Given the description of an element on the screen output the (x, y) to click on. 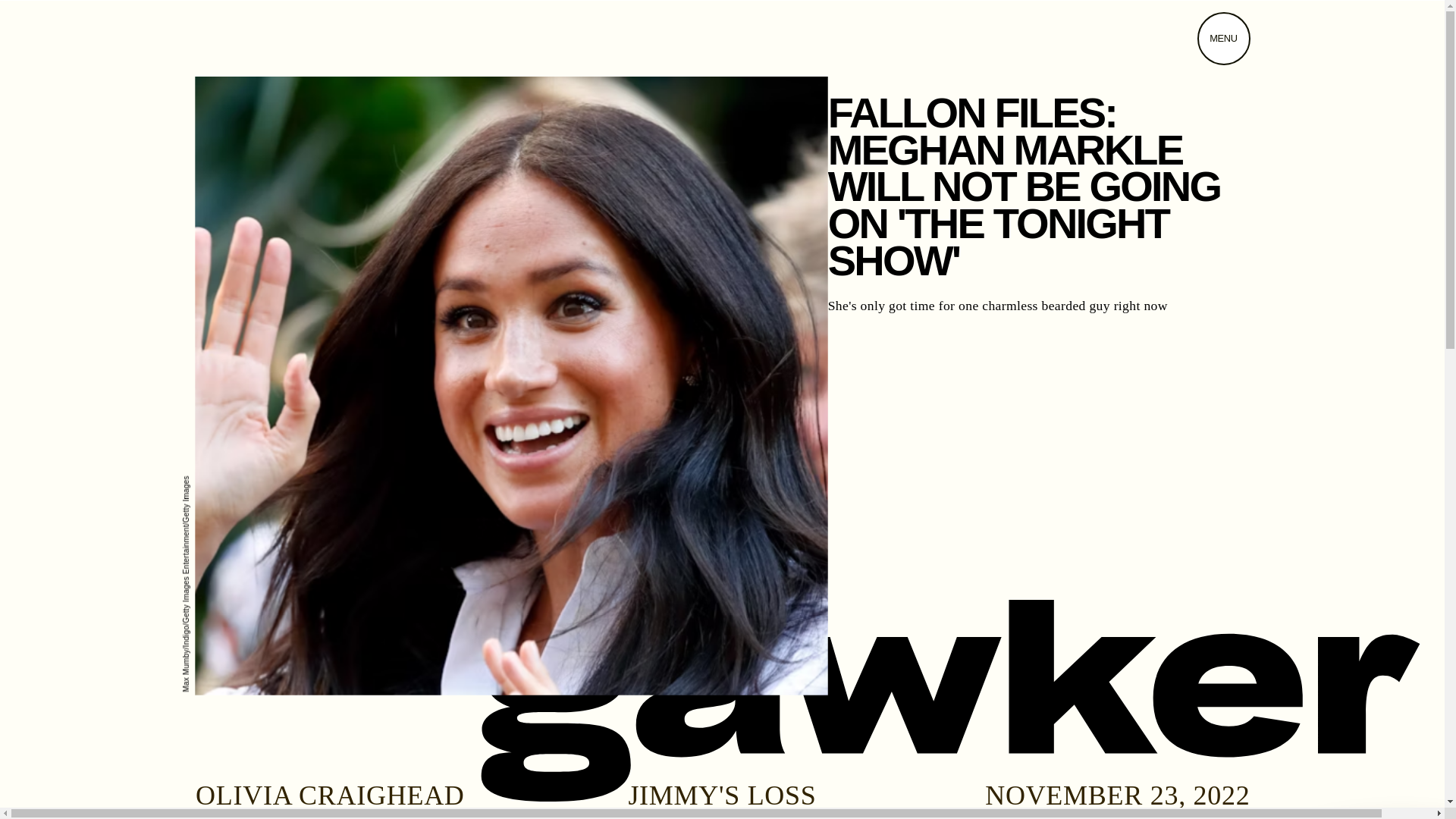
OLIVIA CRAIGHEAD (329, 795)
